Given the description of an element on the screen output the (x, y) to click on. 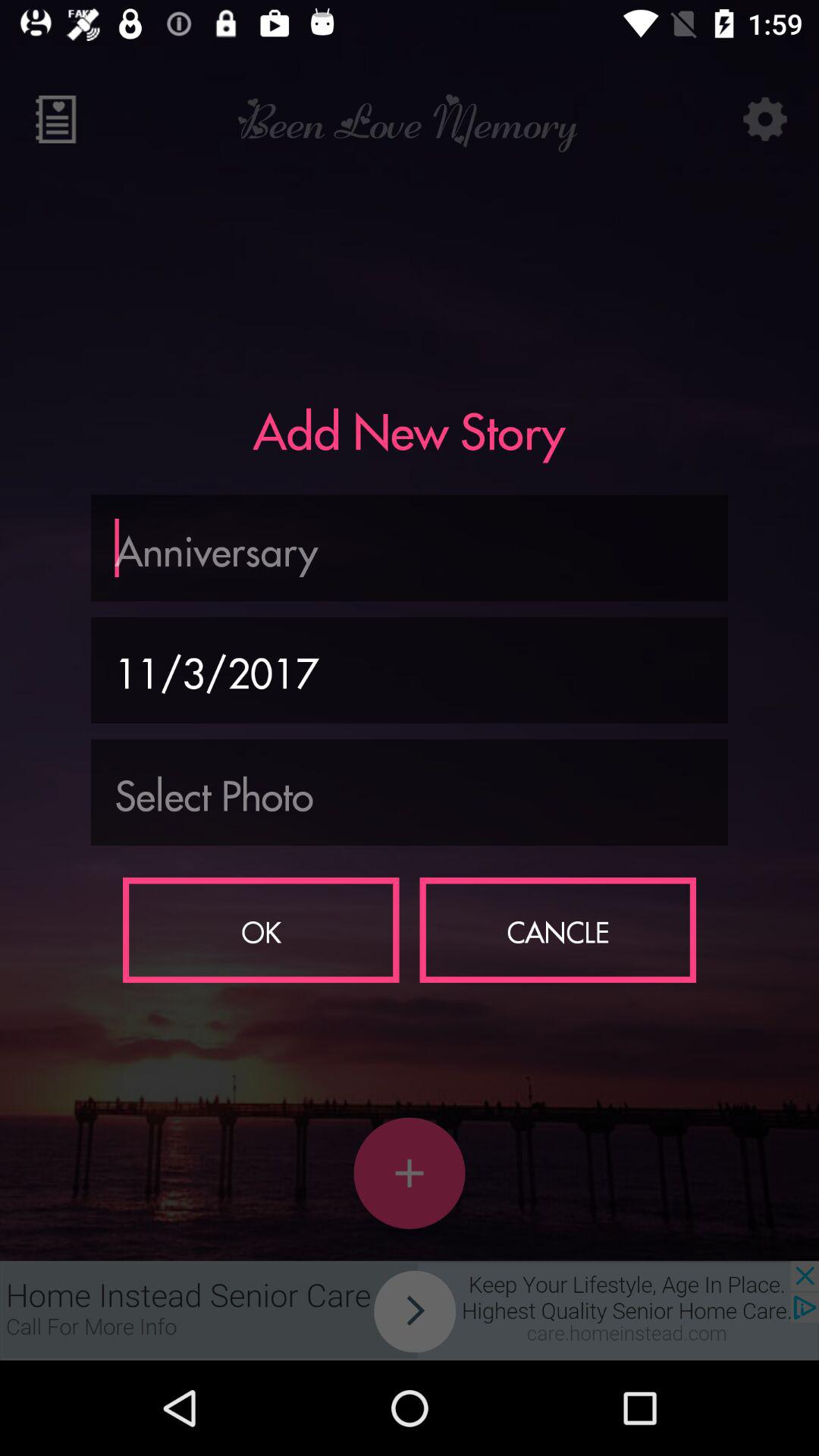
select item to the right of the ok icon (557, 929)
